Given the description of an element on the screen output the (x, y) to click on. 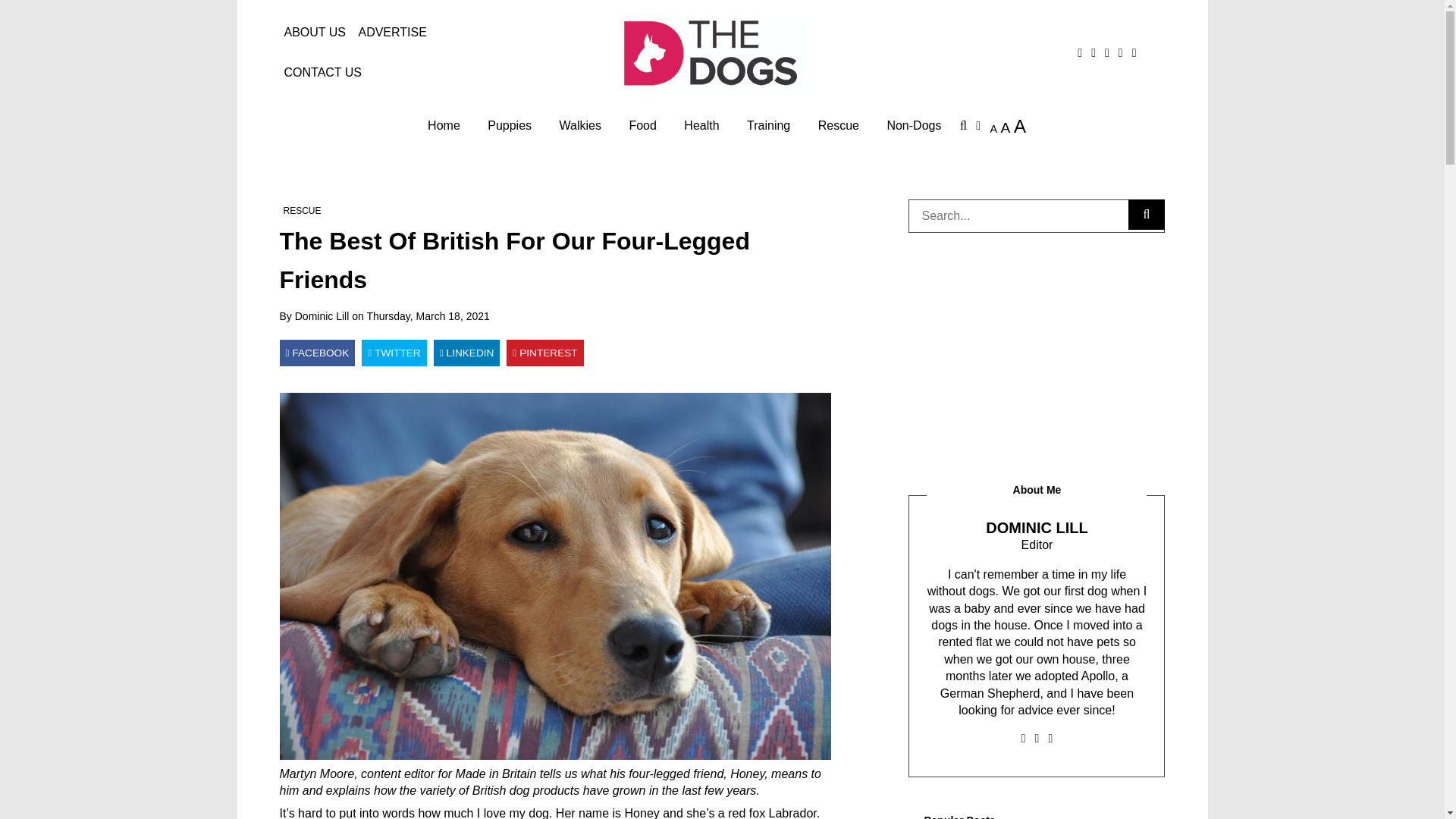
CONTACT US (323, 73)
Non-Dogs (914, 126)
Food (641, 126)
Walkies (579, 126)
ABOUT US (315, 33)
Home (442, 126)
Twitter (393, 352)
Posts by Dominic Lill (322, 316)
RESCUE (302, 210)
Rescue (838, 126)
